Given the description of an element on the screen output the (x, y) to click on. 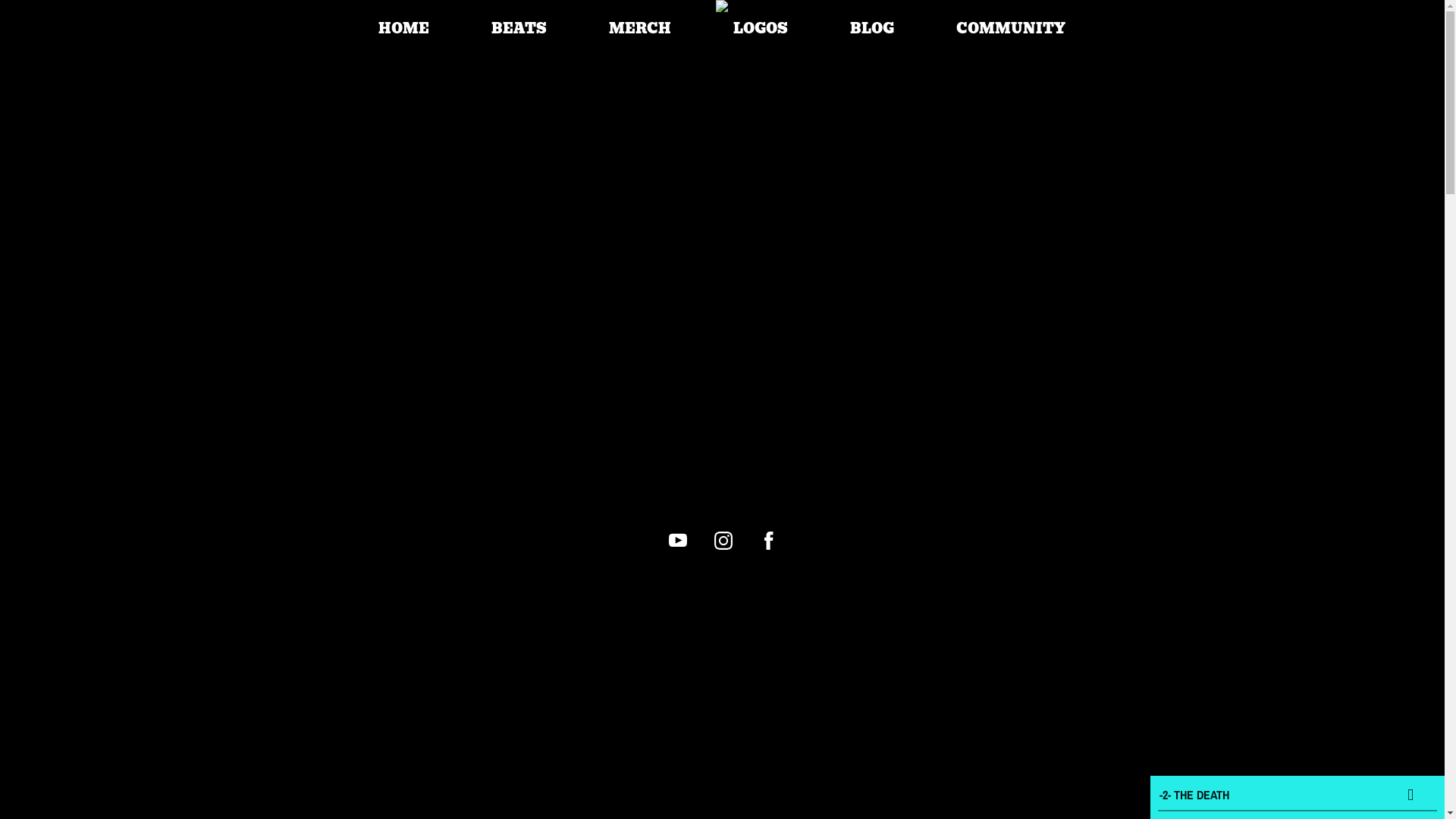
LOGOS Element type: text (760, 28)
https://www.youtube.com/@1notchdotcom Element type: hover (677, 540)
MERCH Element type: text (639, 28)
HOME Element type: text (403, 28)
https://instagram.com/1notchdotcom Element type: hover (723, 540)
COMMUNITY Element type: text (1010, 28)
https://www.facebook.com/1notchdotcom Element type: hover (768, 540)
BLOG Element type: text (871, 28)
BEATS Element type: text (518, 28)
Play Element type: hover (1409, 793)
